Given the description of an element on the screen output the (x, y) to click on. 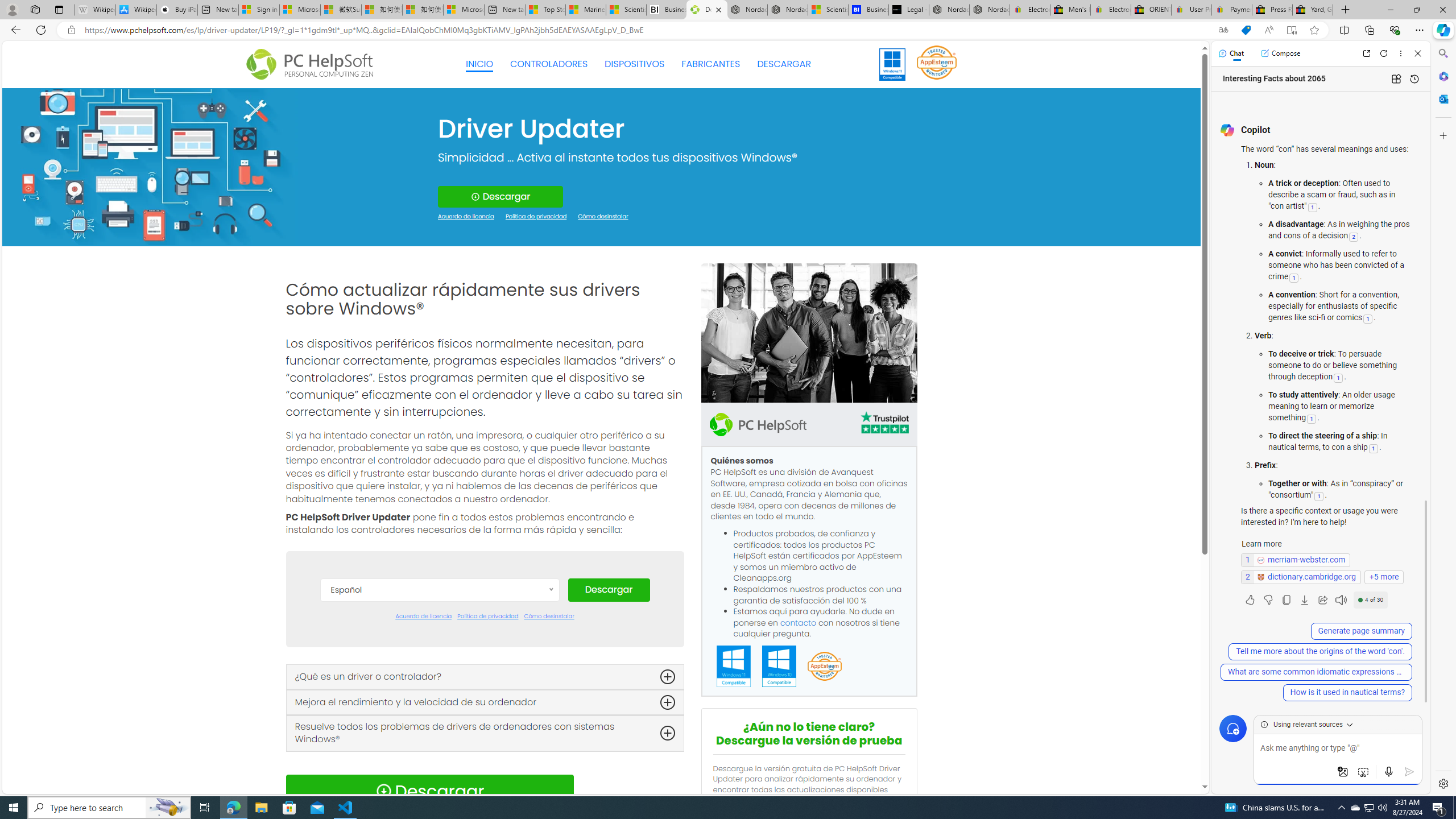
Download Icon Descargar (429, 790)
TrustPilot (884, 424)
Logo Personal Computing (313, 64)
Show translate options (1222, 29)
Microsoft Services Agreement (299, 9)
Descargar (608, 589)
PCHelpsoft (757, 423)
Logo Personal Computing (313, 64)
App Esteem (823, 666)
